Given the description of an element on the screen output the (x, y) to click on. 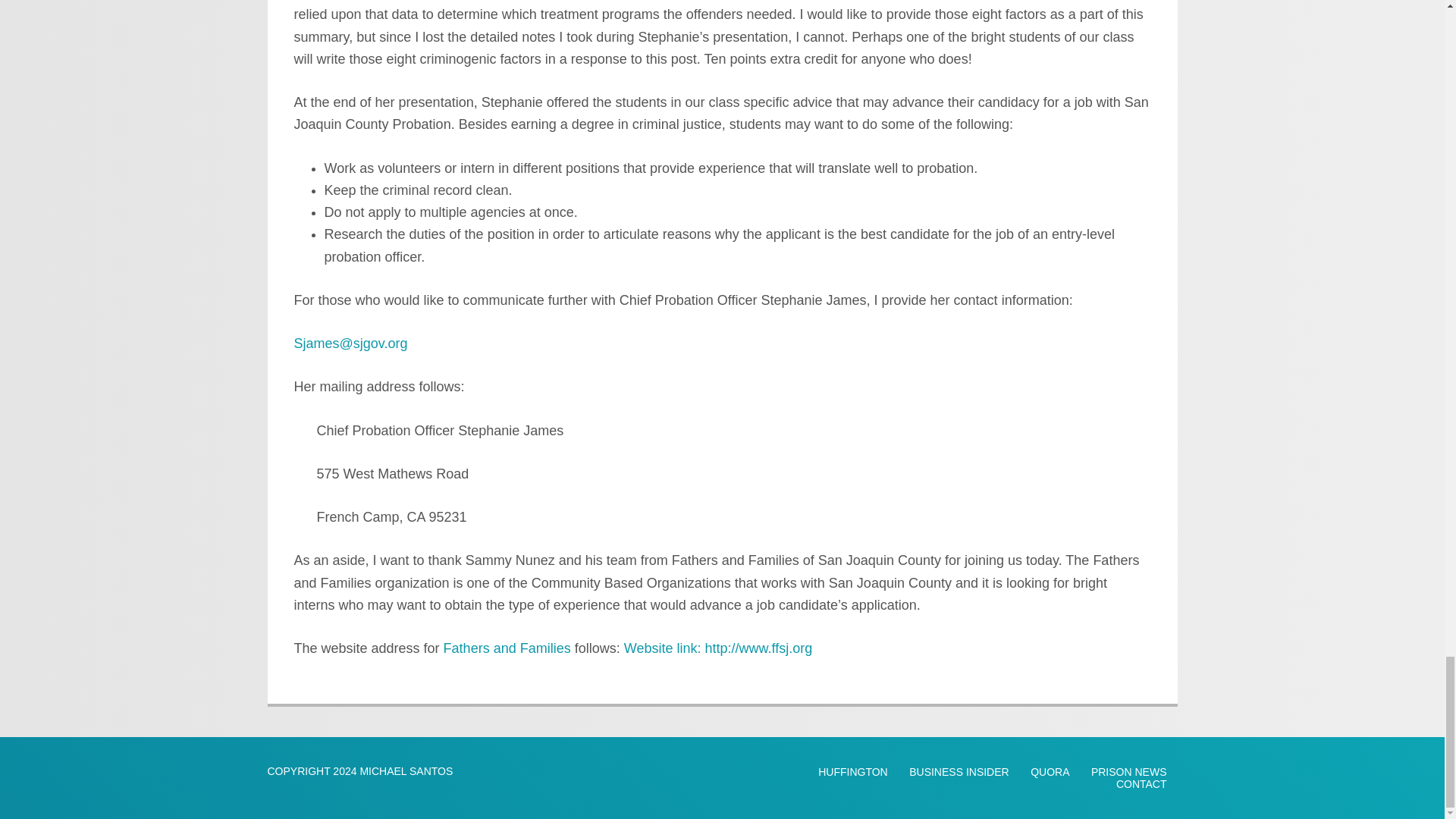
PRISON NEWS (1128, 771)
Fathers and Families (507, 648)
CONTACT (1141, 783)
Fathers and Families (718, 648)
BUSINESS INSIDER (958, 771)
Fathers and Families (507, 648)
QUORA (1050, 771)
HUFFINGTON (853, 771)
MICHAEL SANTOS (405, 770)
